Given the description of an element on the screen output the (x, y) to click on. 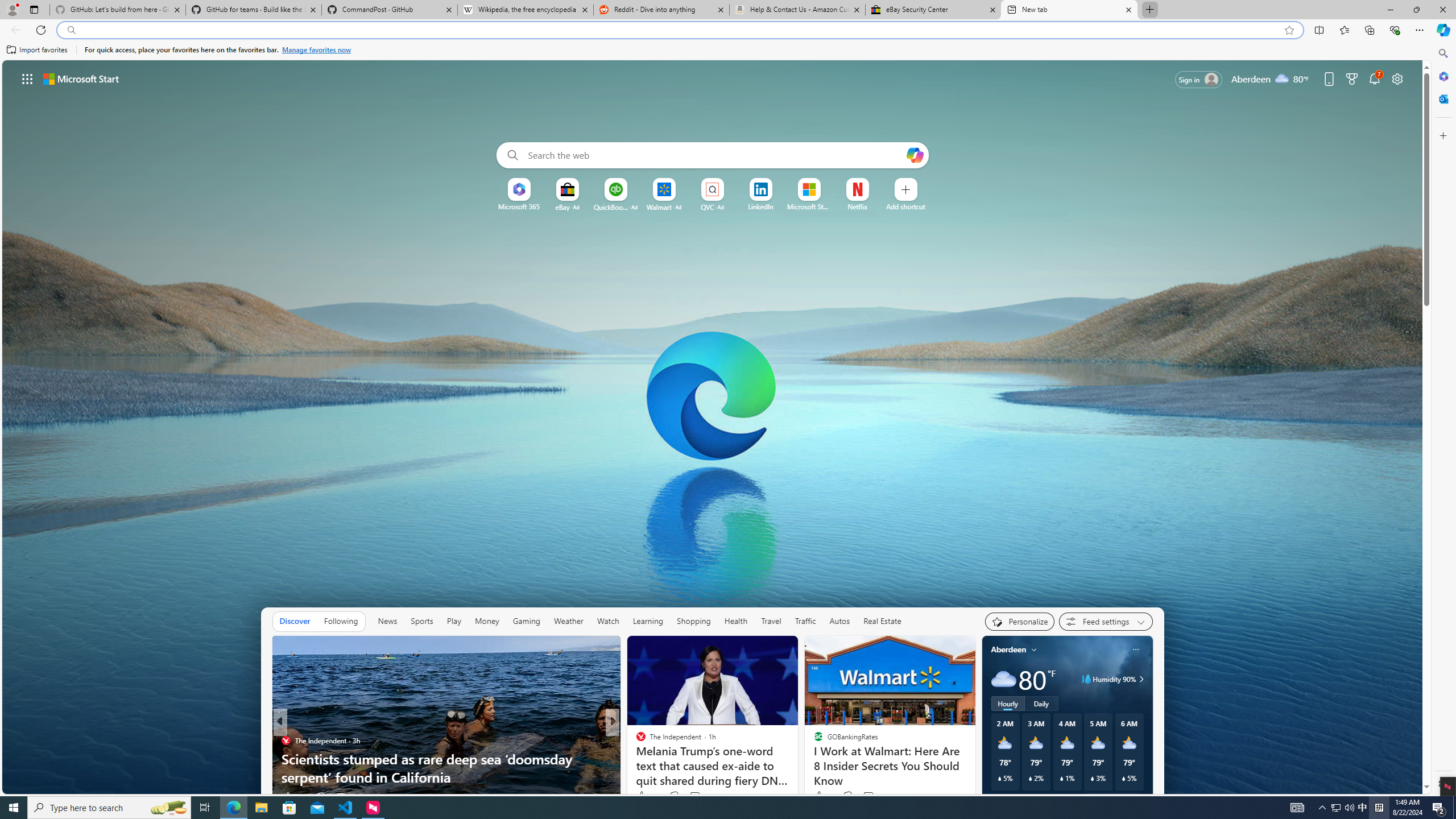
FOX News (635, 740)
Autos (839, 621)
Search icon (70, 29)
184 Like (643, 796)
Netflix (857, 206)
Feed settings (1105, 621)
App launcher (27, 78)
The Independent (635, 740)
